Given the description of an element on the screen output the (x, y) to click on. 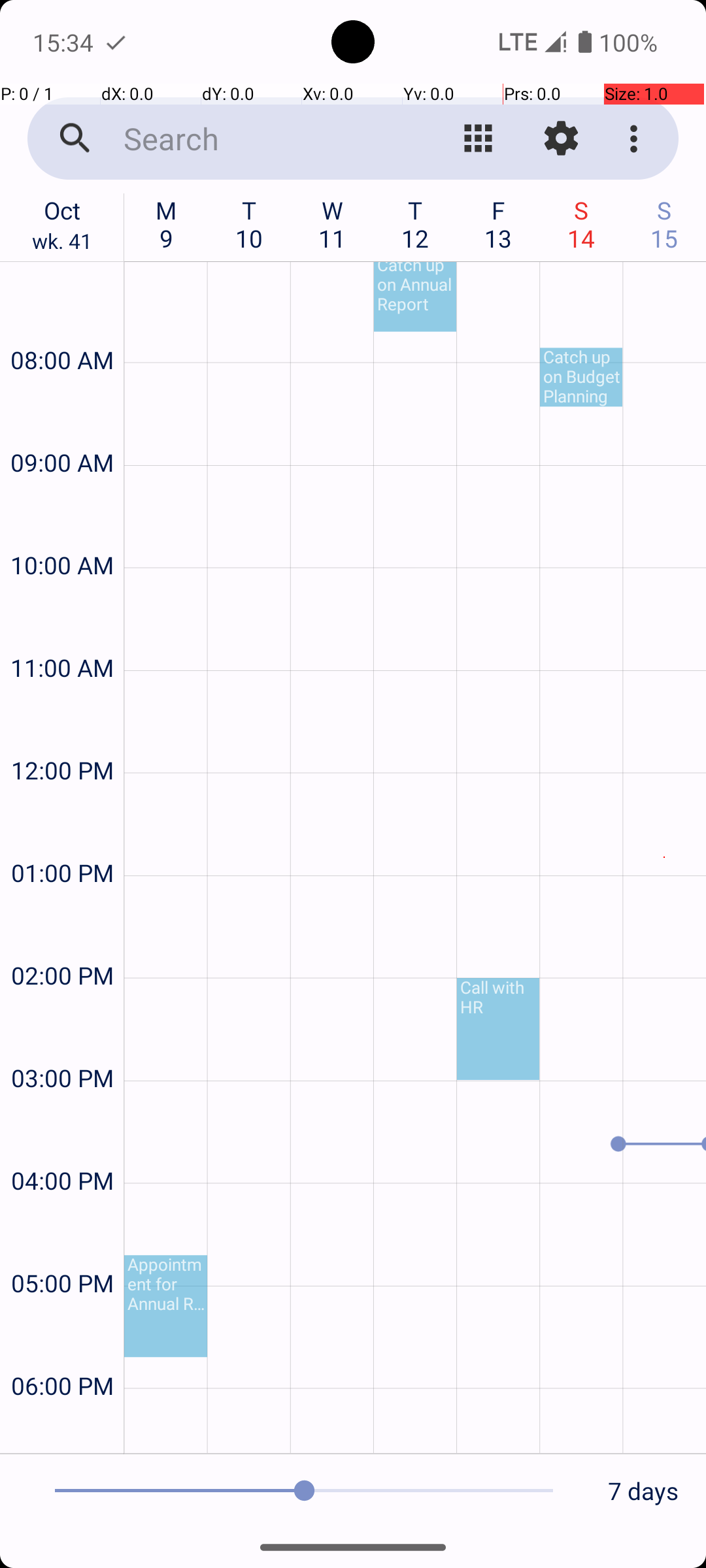
03:00 PM Element type: android.widget.TextView (62, 1042)
05:00 PM Element type: android.widget.TextView (62, 1247)
06:00 PM Element type: android.widget.TextView (62, 1350)
07:00 PM Element type: android.widget.TextView (62, 1428)
